Given the description of an element on the screen output the (x, y) to click on. 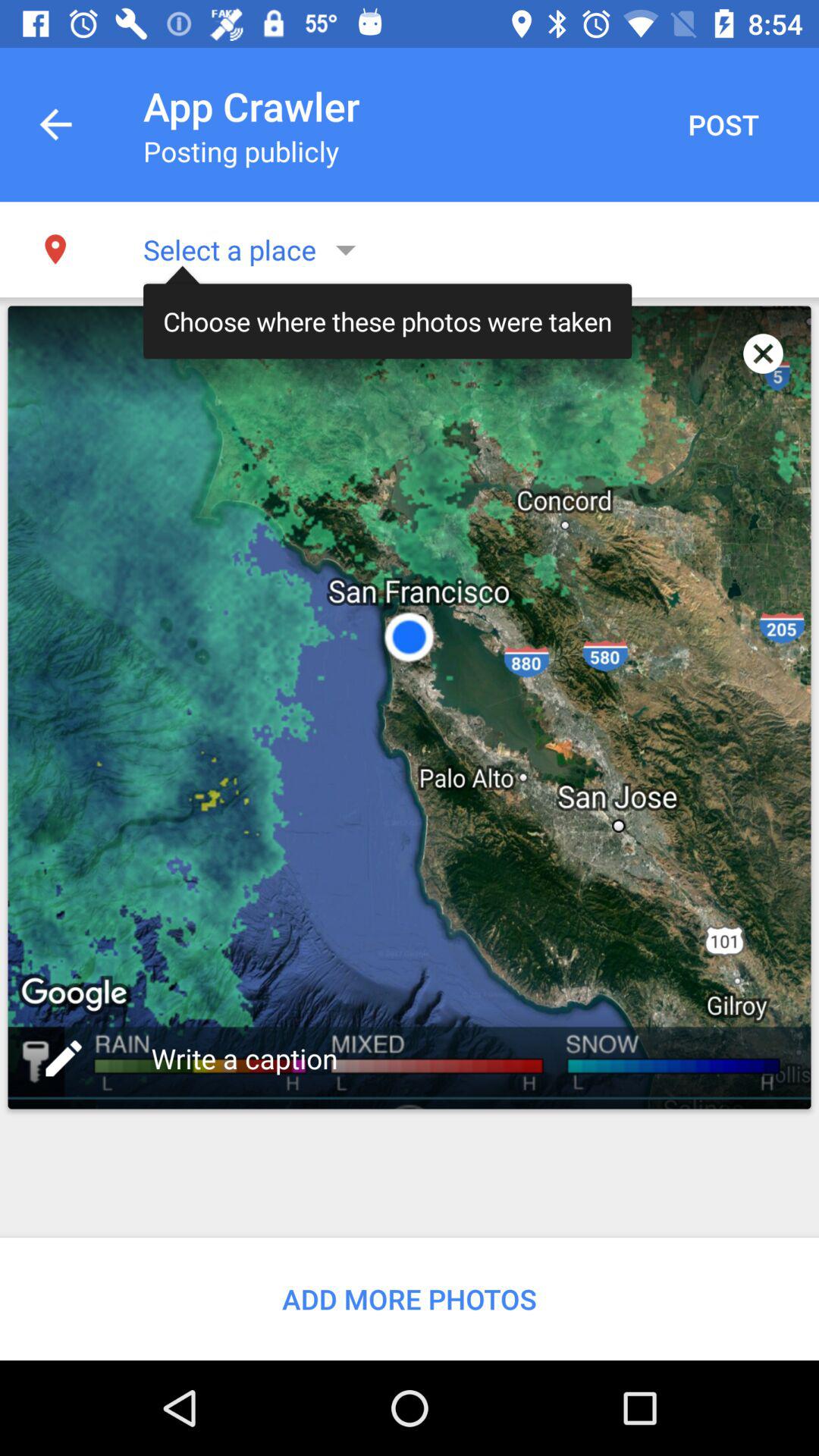
press add more photos (409, 1298)
